Given the description of an element on the screen output the (x, y) to click on. 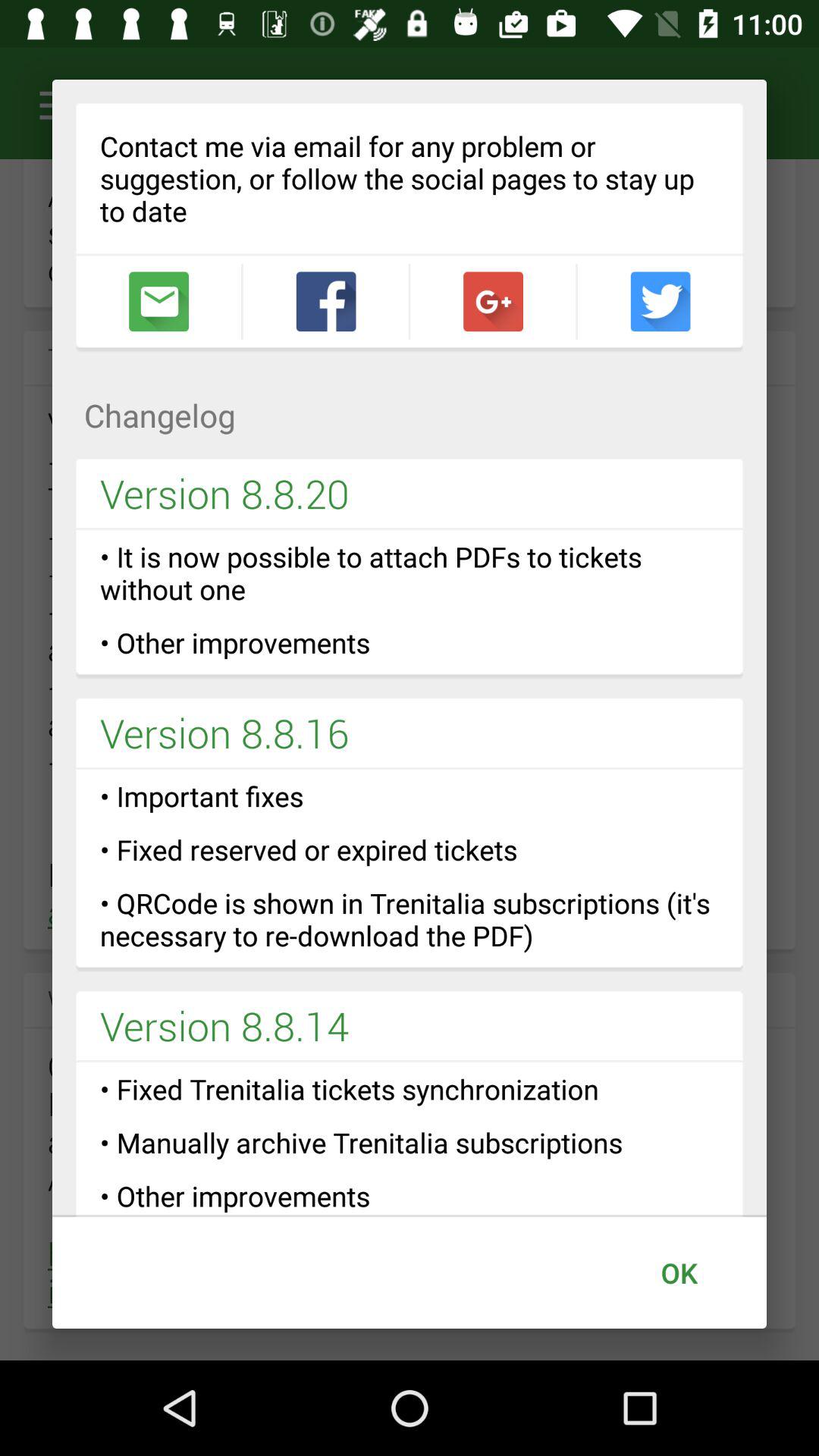
select item above the changelog (492, 301)
